Given the description of an element on the screen output the (x, y) to click on. 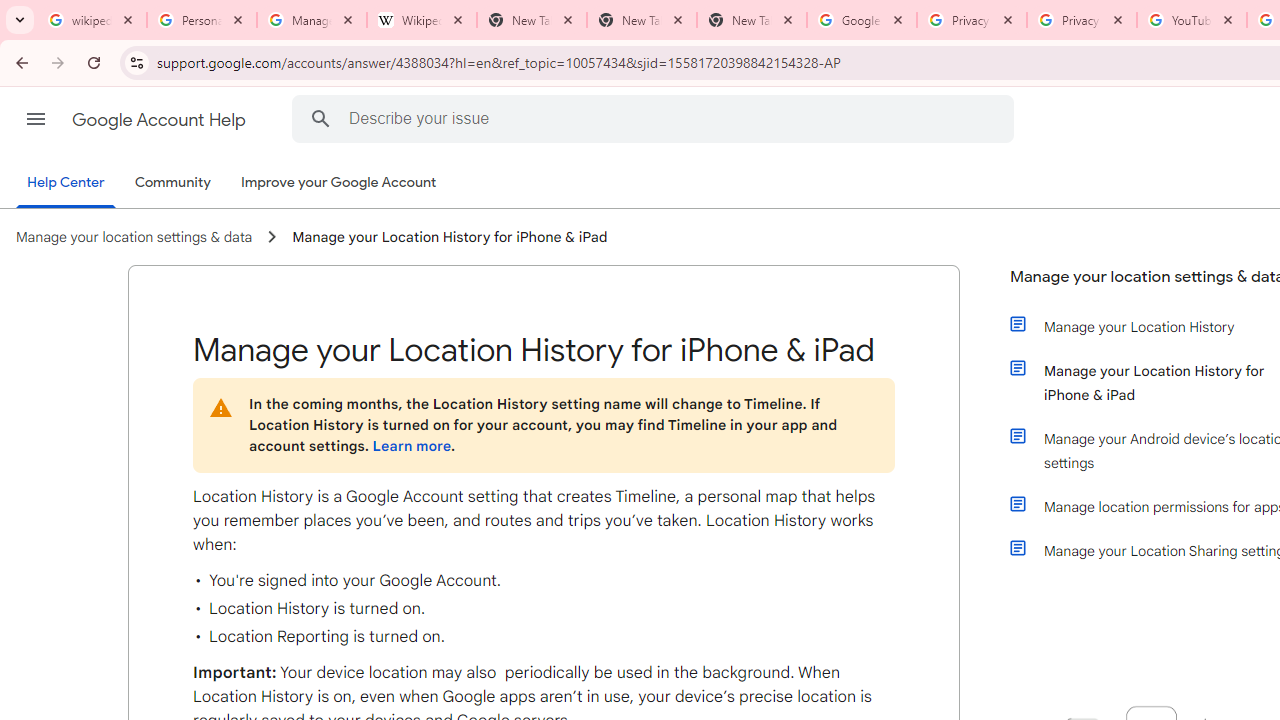
Google Drive: Sign-in (861, 20)
